Given the description of an element on the screen output the (x, y) to click on. 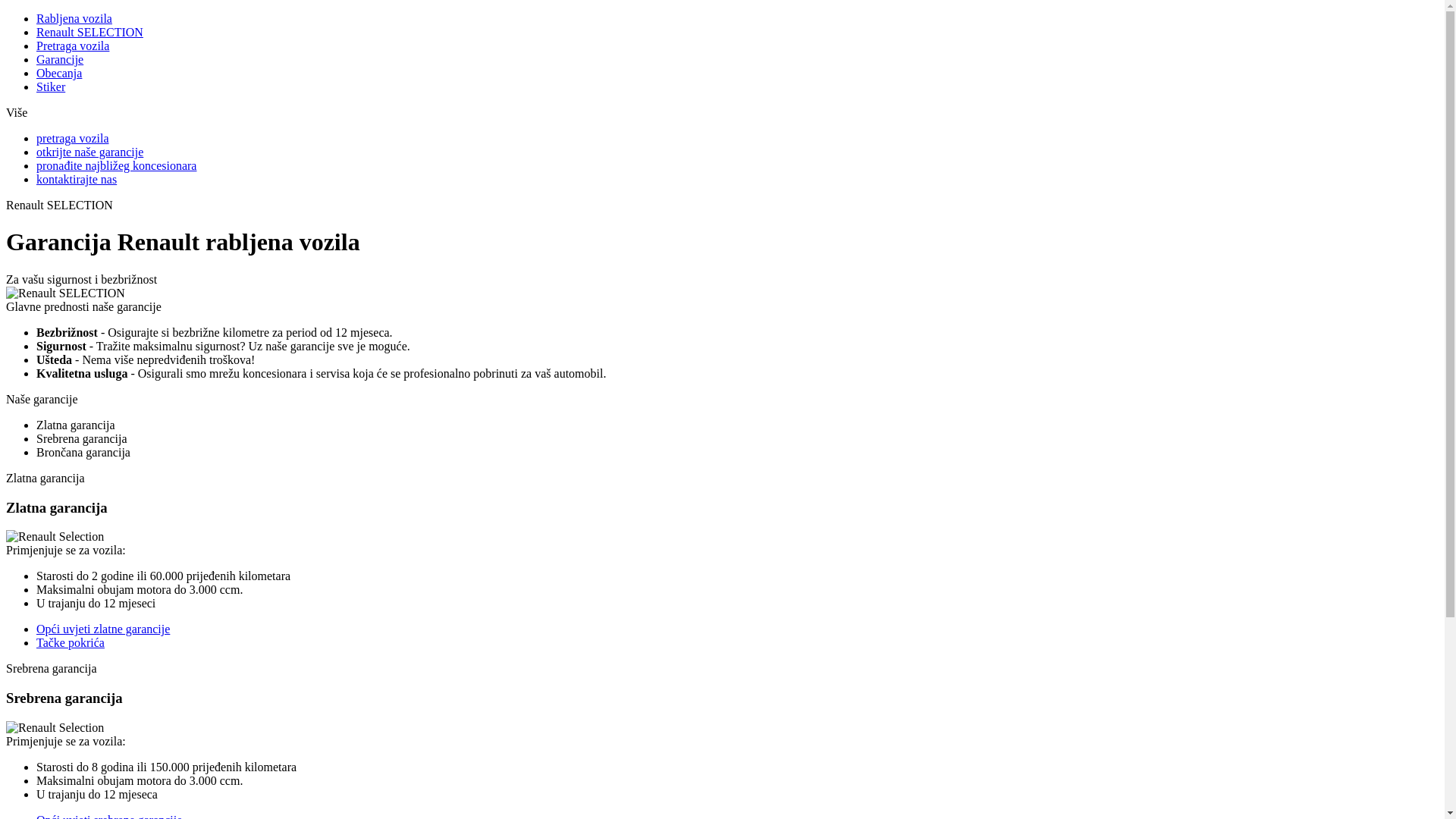
Rabljena vozila Element type: text (74, 18)
kontaktirajte nas Element type: text (76, 178)
Pretraga vozila Element type: text (72, 45)
Obecanja Element type: text (58, 72)
Stiker Element type: text (50, 86)
Zlatna garancija Element type: text (75, 424)
pretraga vozila Element type: text (72, 137)
Renault SELECTION Element type: text (89, 31)
Srebrena garancija Element type: text (81, 438)
Garancije Element type: text (59, 59)
